Given the description of an element on the screen output the (x, y) to click on. 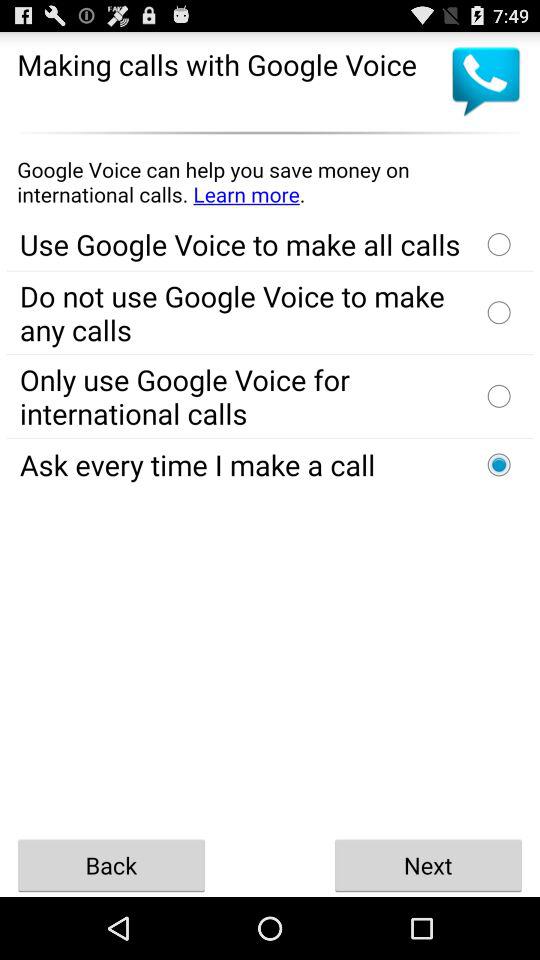
go to search (269, 182)
